Given the description of an element on the screen output the (x, y) to click on. 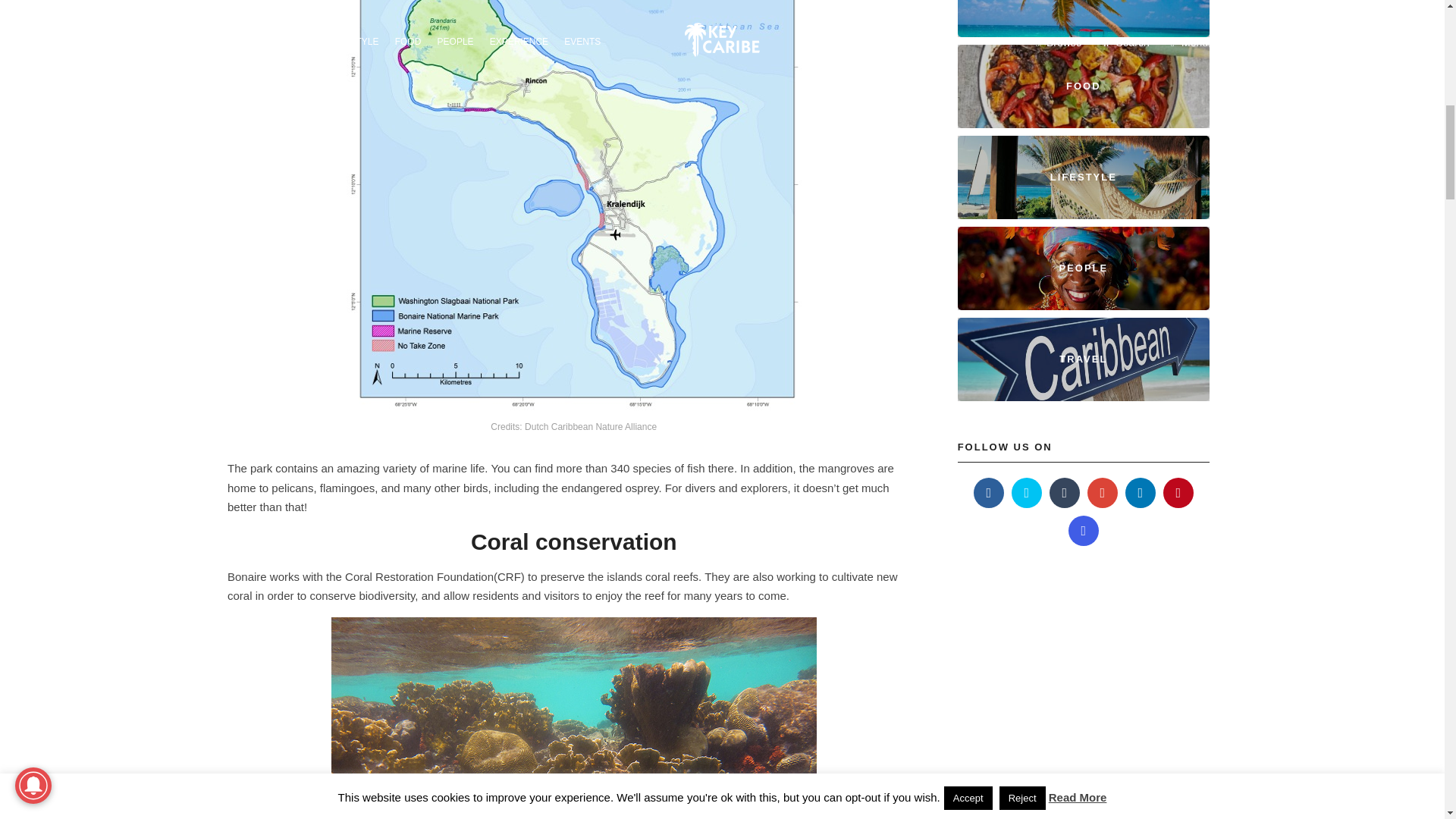
Facebook (989, 492)
Twitter (1026, 492)
